Given the description of an element on the screen output the (x, y) to click on. 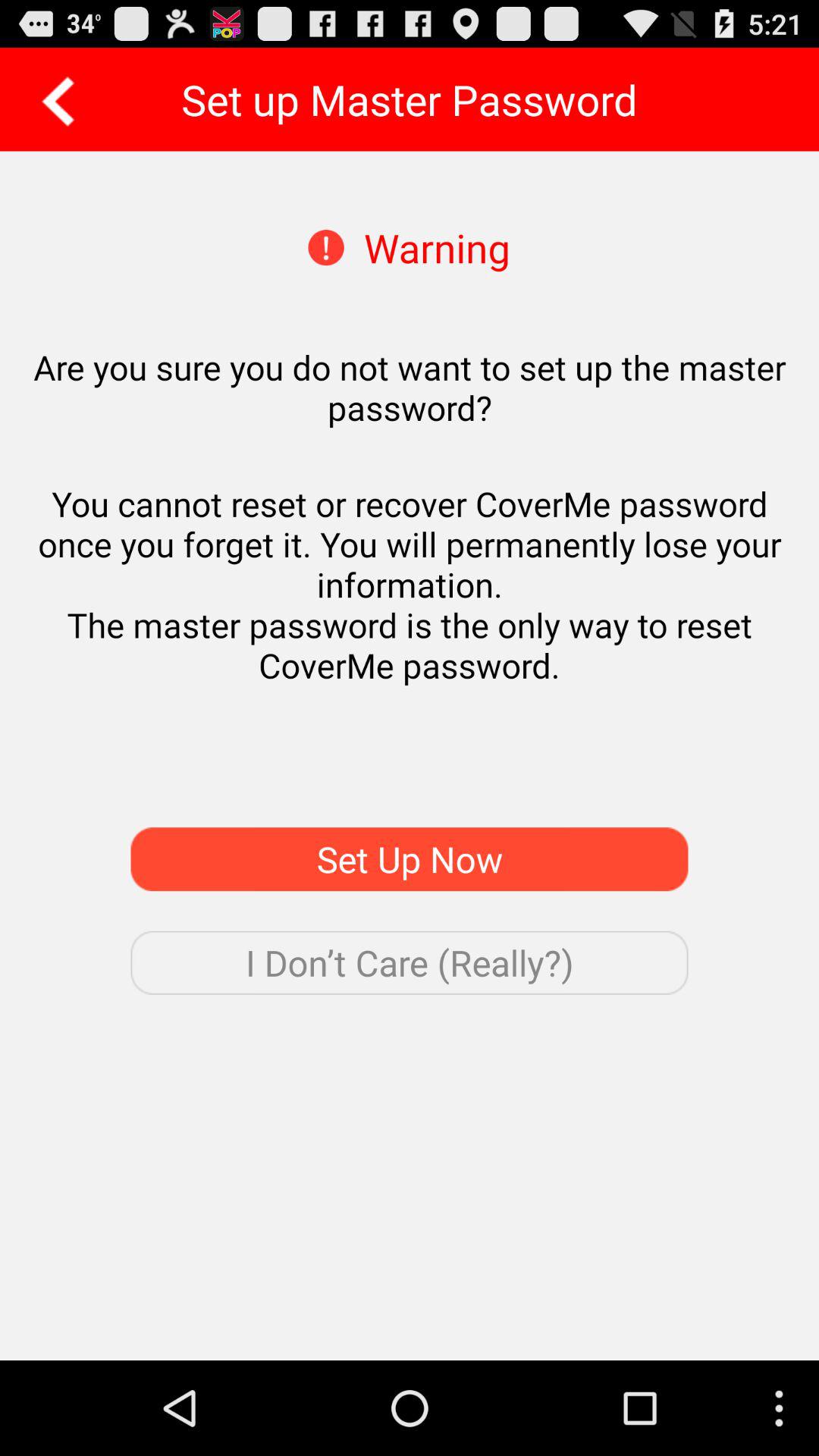
go back (53, 99)
